Given the description of an element on the screen output the (x, y) to click on. 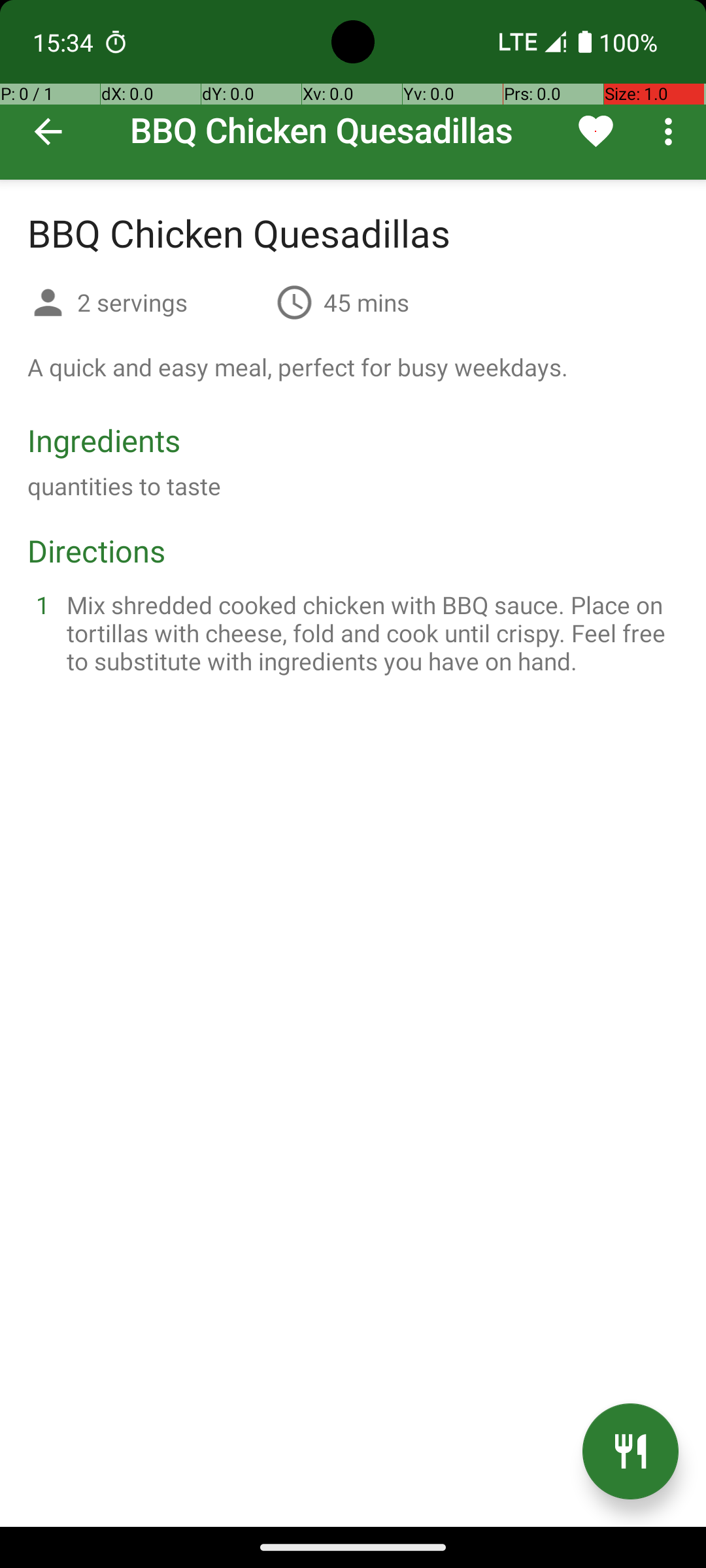
Mix shredded cooked chicken with BBQ sauce. Place on tortillas with cheese, fold and cook until crispy. Feel free to substitute with ingredients you have on hand. Element type: android.widget.TextView (368, 632)
